Given the description of an element on the screen output the (x, y) to click on. 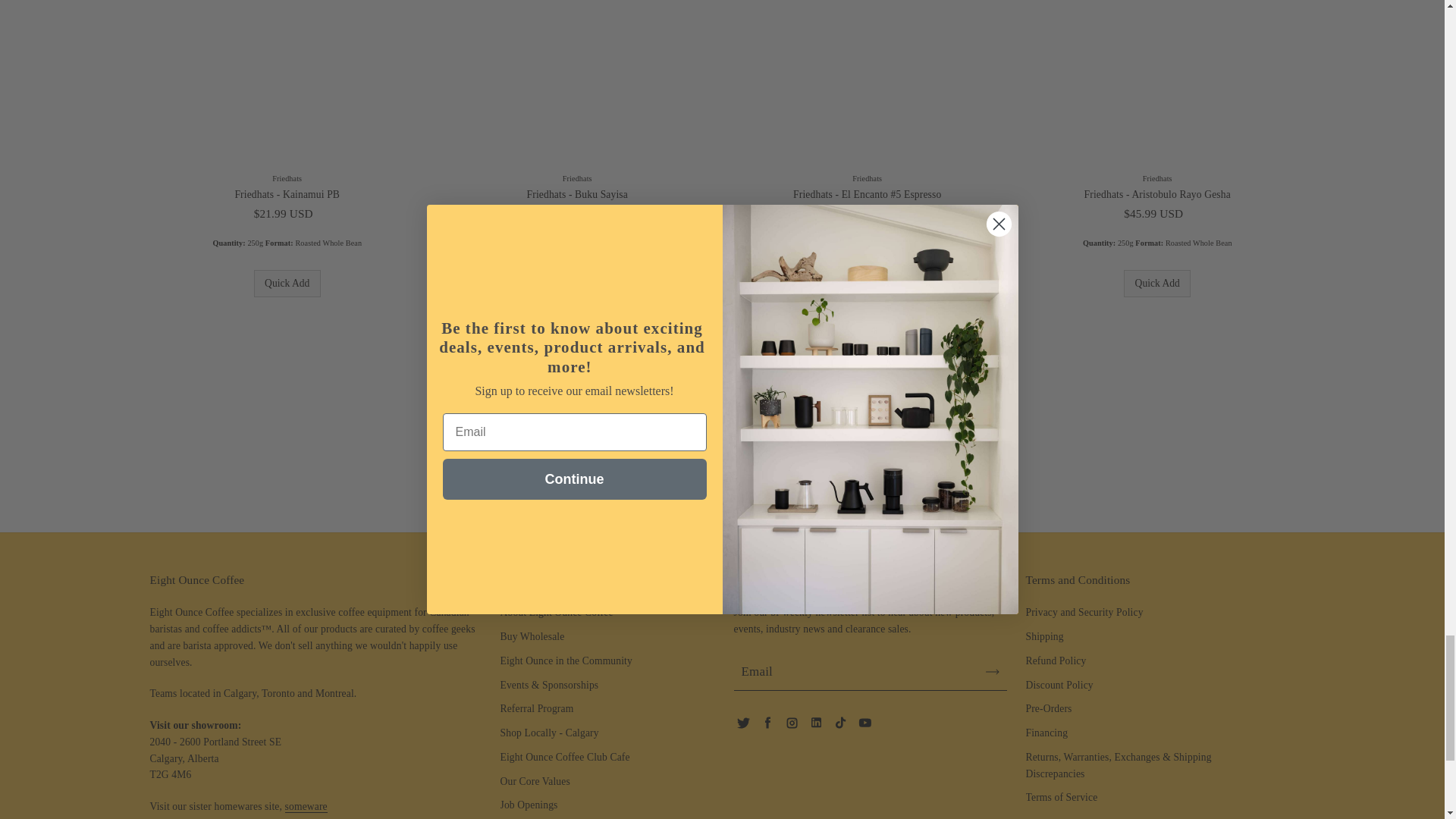
Quick Add (1157, 283)
someware homewares (306, 806)
Quick Add (576, 283)
Quick Add (286, 283)
Quick Add (867, 283)
